Given the description of an element on the screen output the (x, y) to click on. 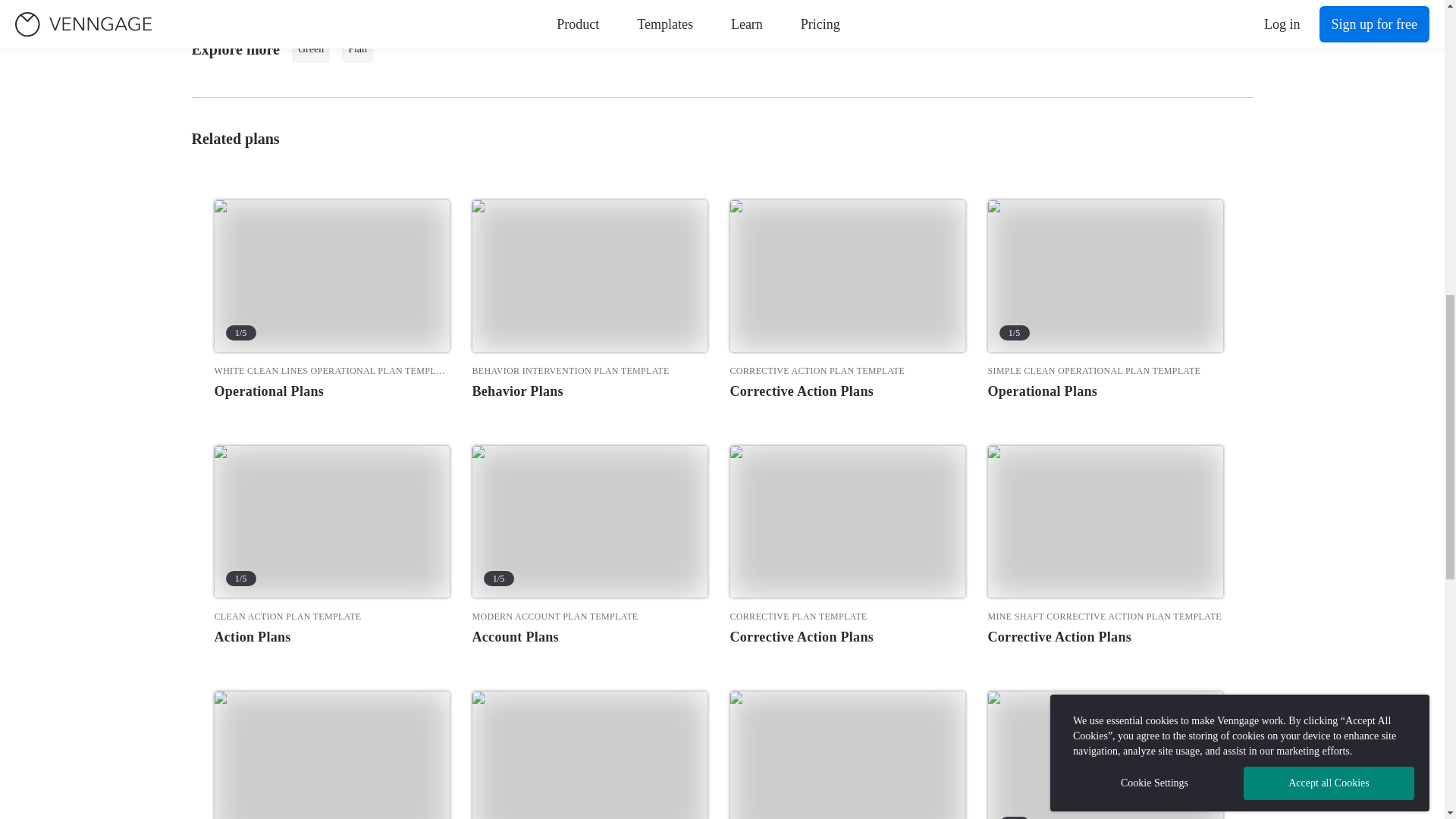
BEHAVIOR INTERVENTION PLAN TEMPLATE (588, 370)
View more templates in the 'action plans' category. (331, 637)
Clean Action Plan Template (331, 521)
Behavior Intervention Plan Template (588, 275)
Action Plans (331, 637)
View more templates in the 'behavior plans' category. (588, 391)
Cream Pink Green Corrective Action Plan Template (588, 755)
Modern Account Plan Template (588, 616)
Behavior Intervention Plan Template (588, 370)
Green Corrective Action Plan Template (331, 755)
